Given the description of an element on the screen output the (x, y) to click on. 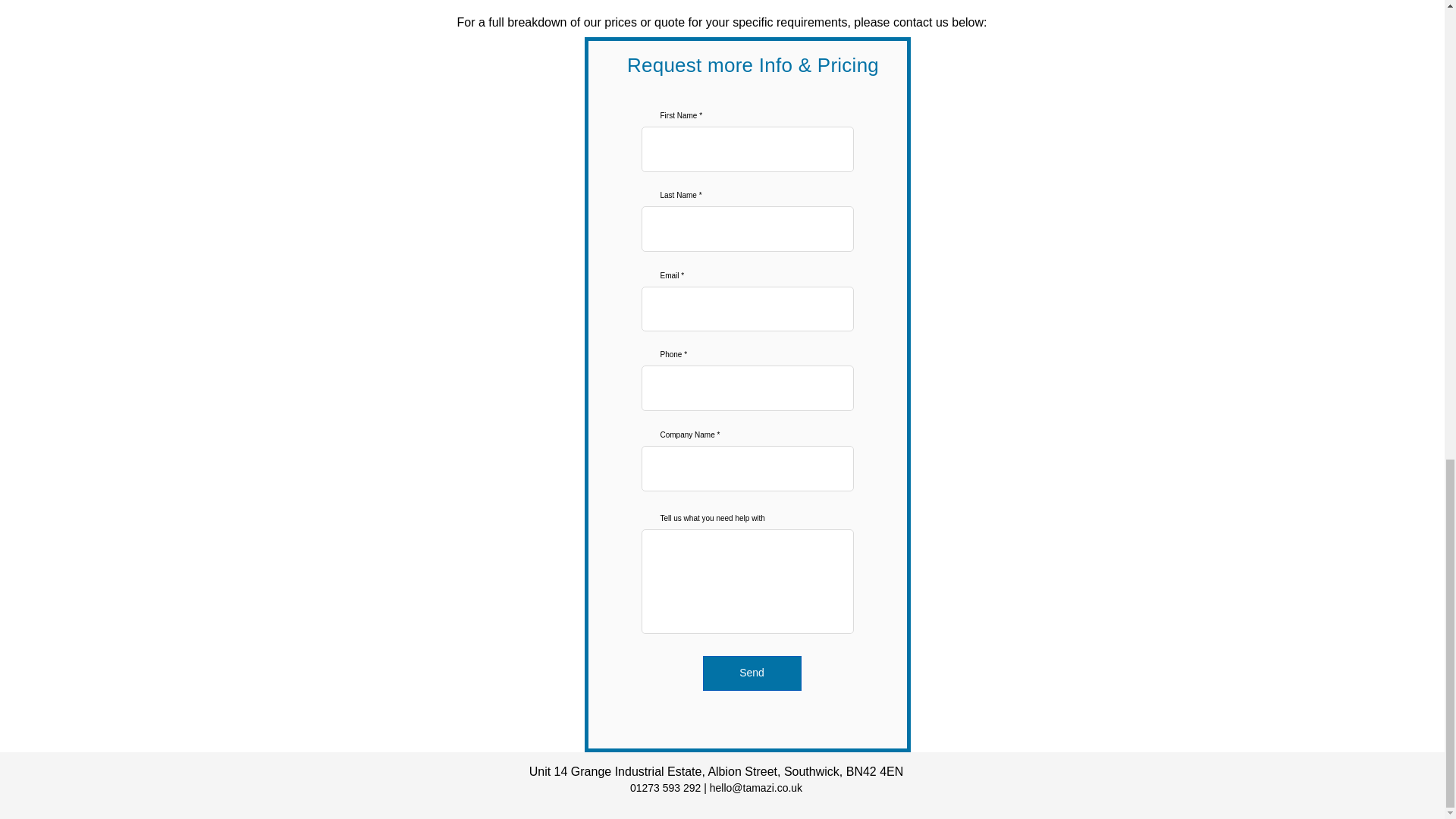
Send (750, 673)
